Given the description of an element on the screen output the (x, y) to click on. 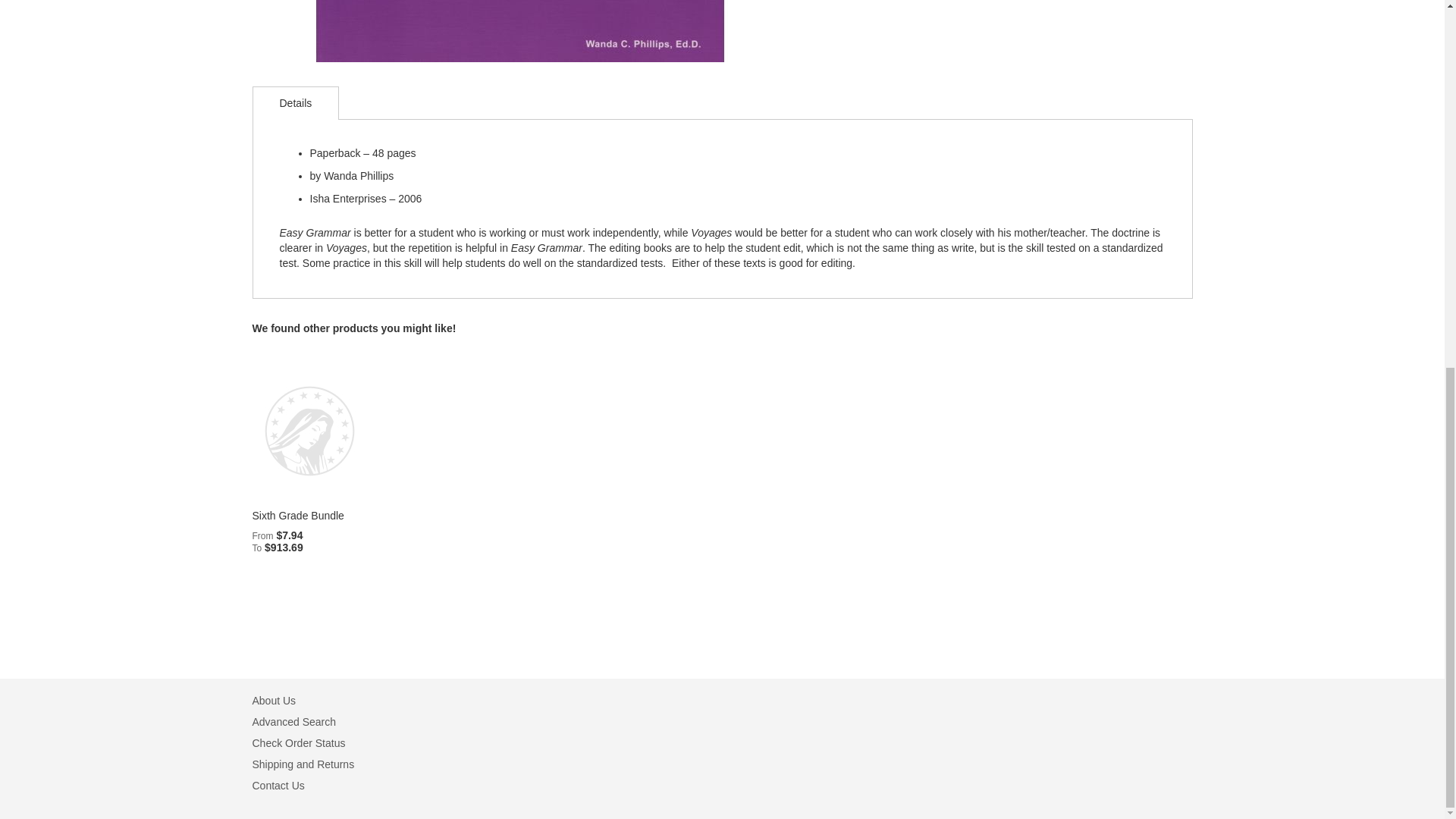
Sixth Grade Bundle (297, 515)
